Given the description of an element on the screen output the (x, y) to click on. 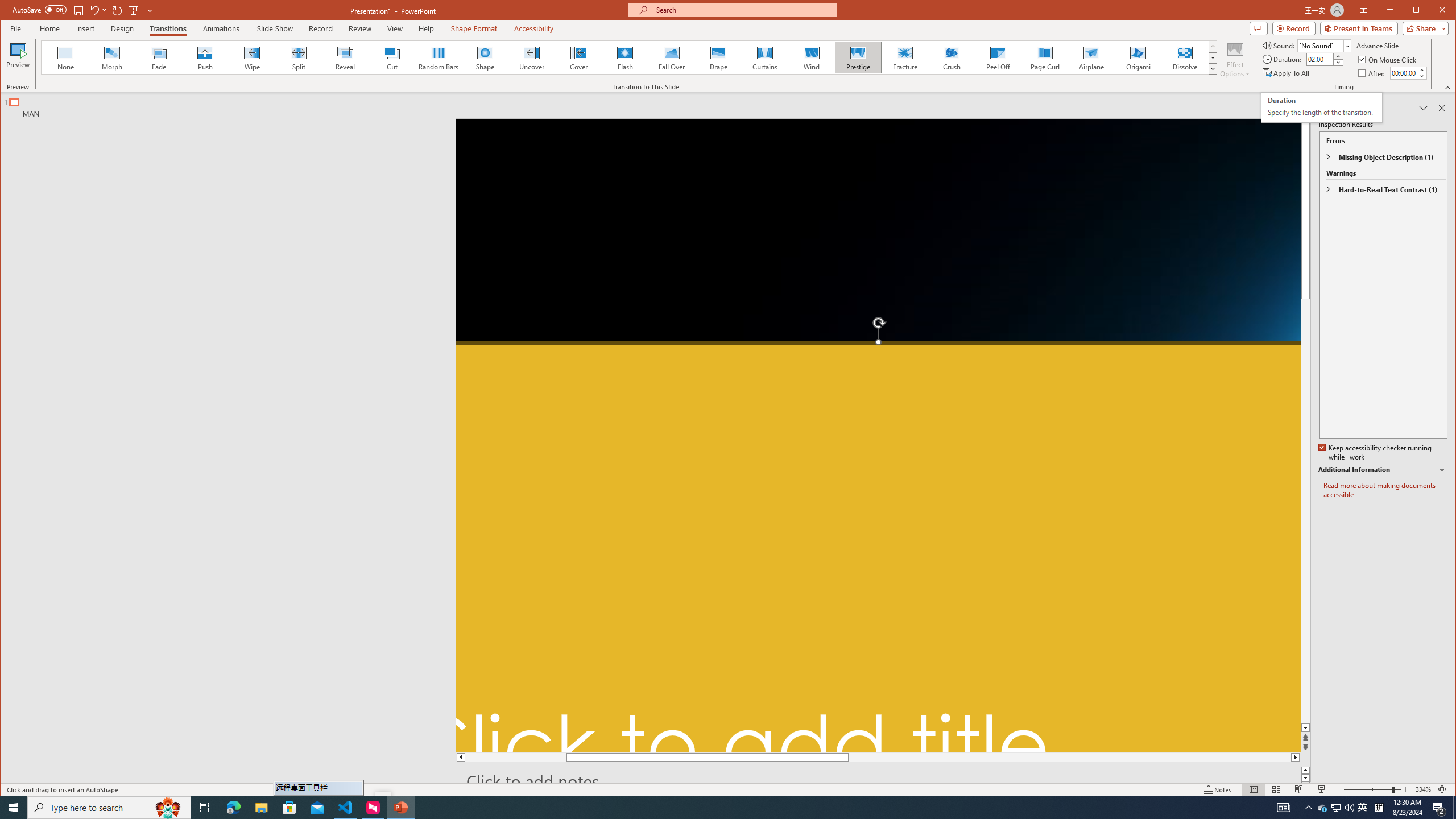
AutomationID: AnimationTransitionGallery (629, 57)
Drape (717, 57)
